Given the description of an element on the screen output the (x, y) to click on. 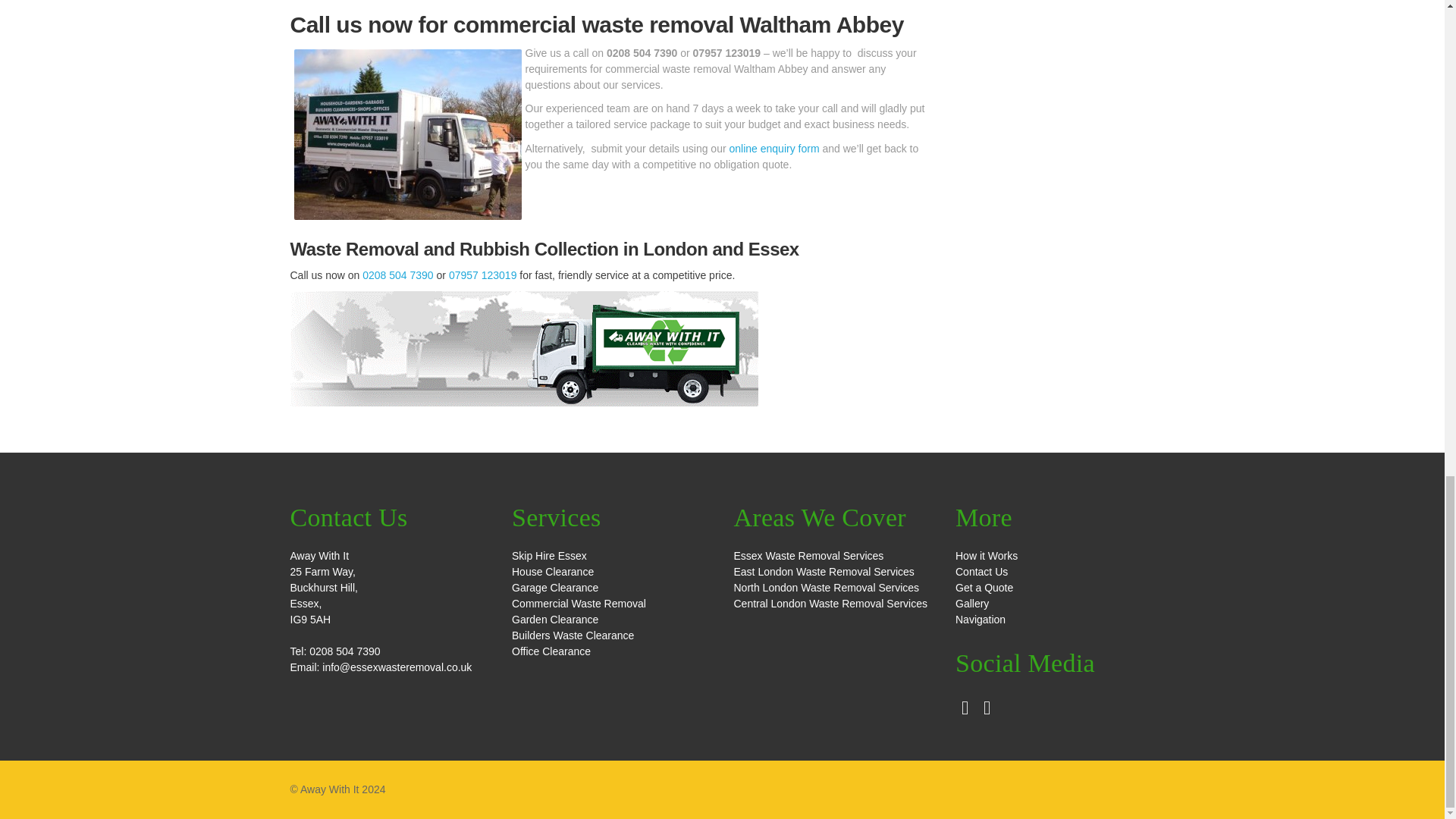
Commercial Waste Removal in Waltham Abbey EN9 (407, 134)
